Given the description of an element on the screen output the (x, y) to click on. 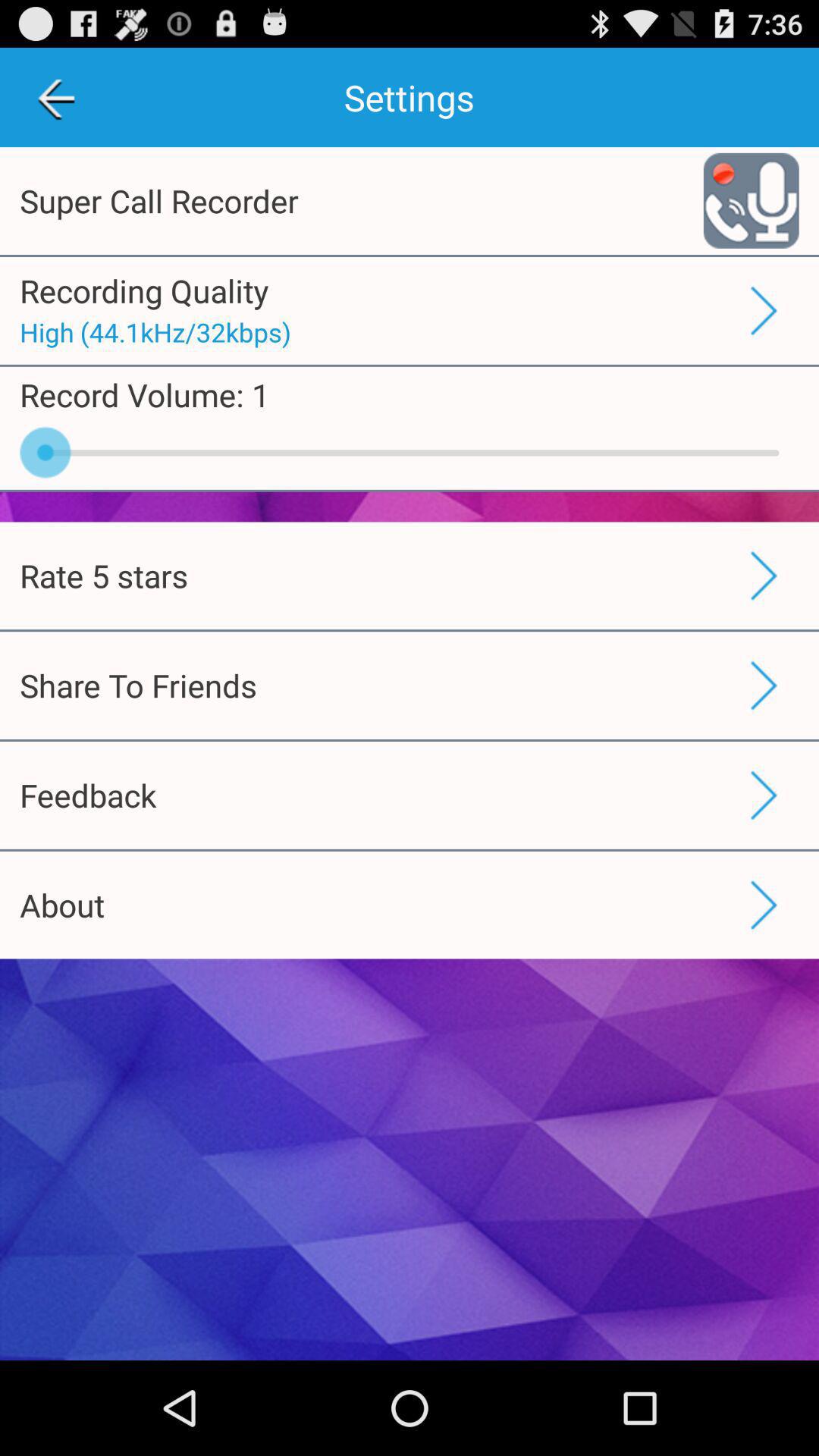
launch the app next to settings icon (55, 97)
